Given the description of an element on the screen output the (x, y) to click on. 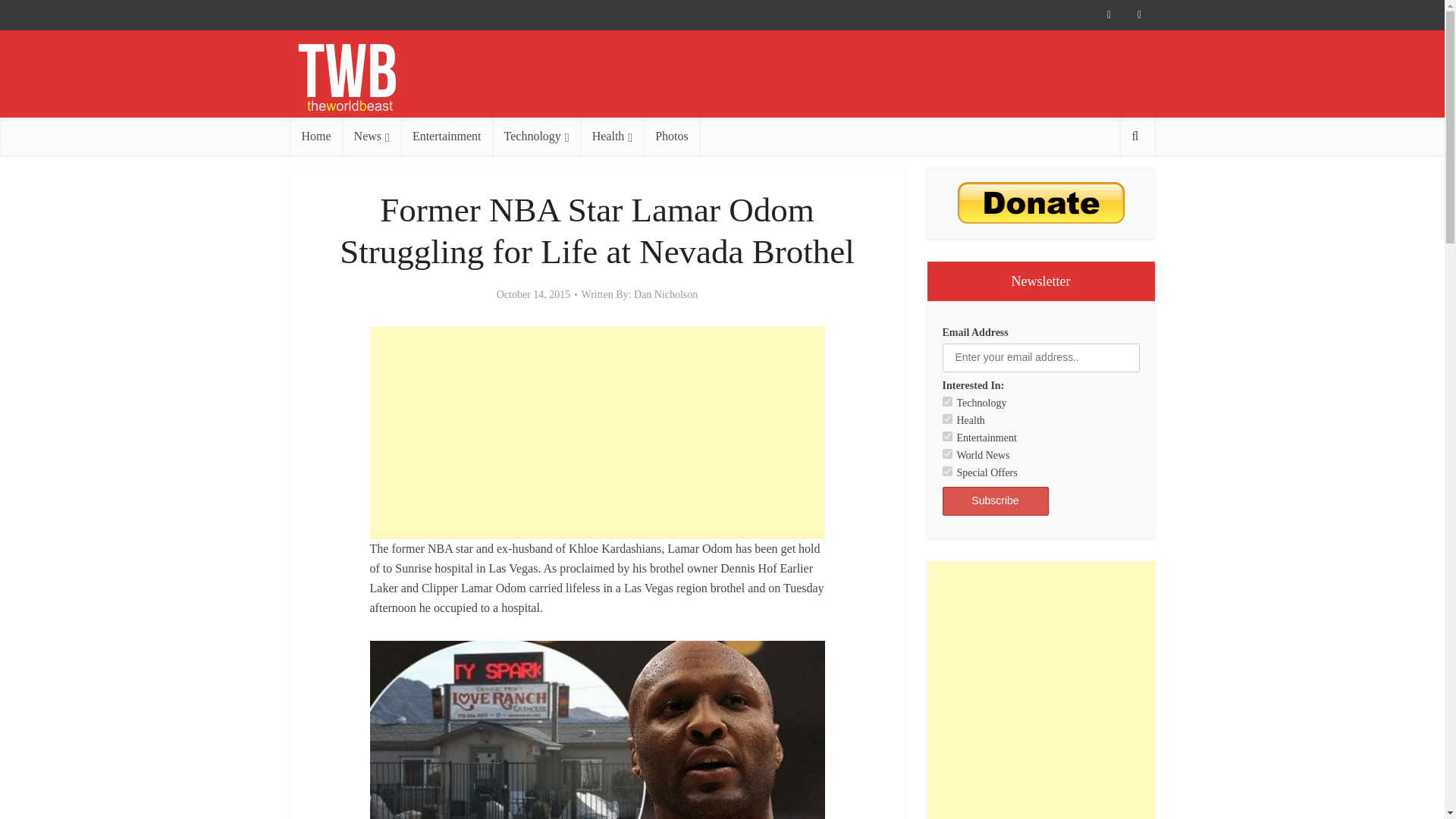
Entertainment (947, 436)
Entertainment (447, 136)
Technology (536, 136)
The World Beast (346, 77)
Subscribe (995, 500)
World News (947, 453)
Dan Nicholson (665, 295)
Photos (671, 136)
Special Offers (947, 470)
Health (947, 419)
